Given the description of an element on the screen output the (x, y) to click on. 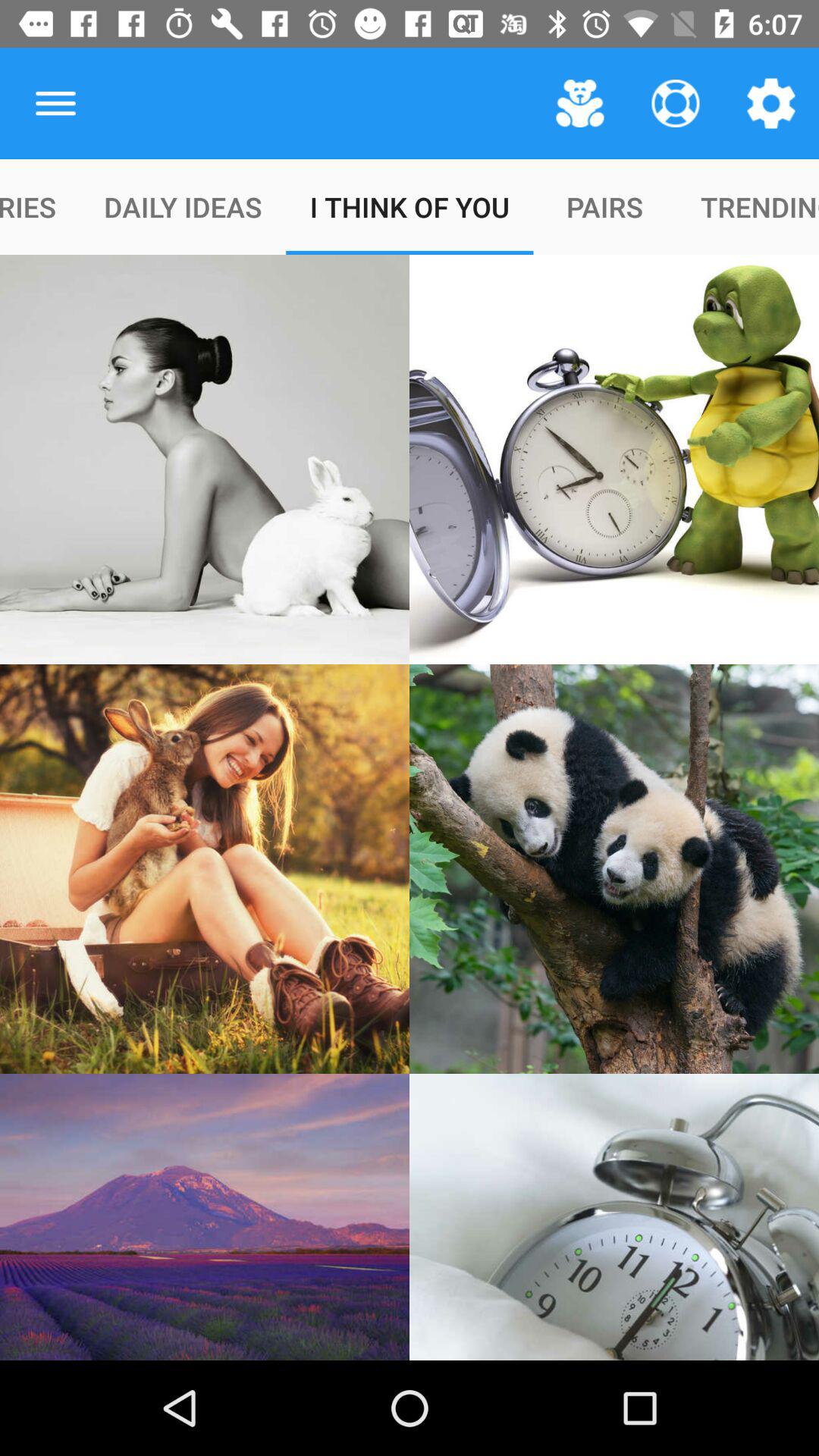
launch icon to the left of   item (55, 103)
